Given the description of an element on the screen output the (x, y) to click on. 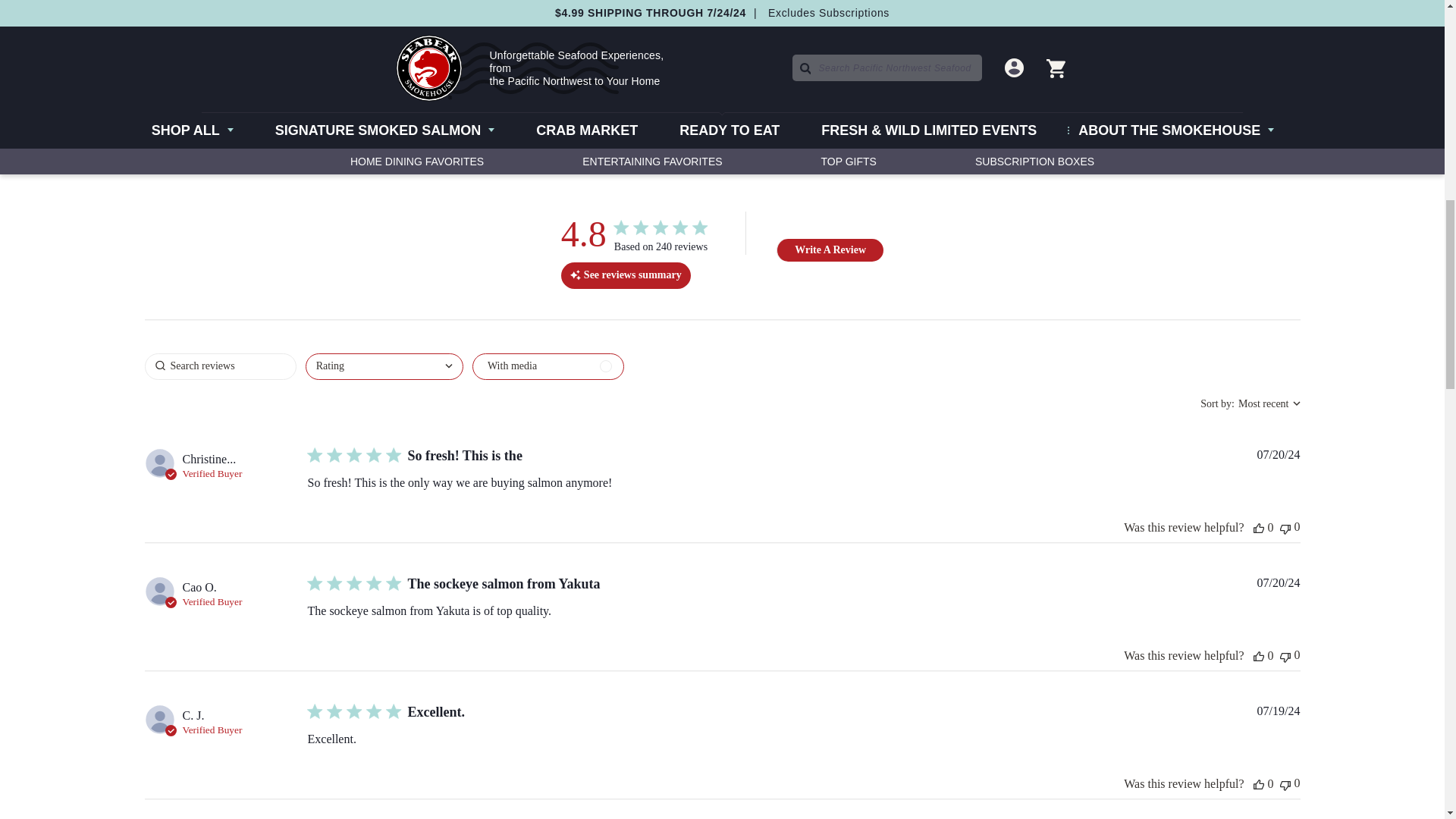
C. J. (192, 715)
Christine B. (208, 459)
Cao O. (198, 587)
